Given the description of an element on the screen output the (x, y) to click on. 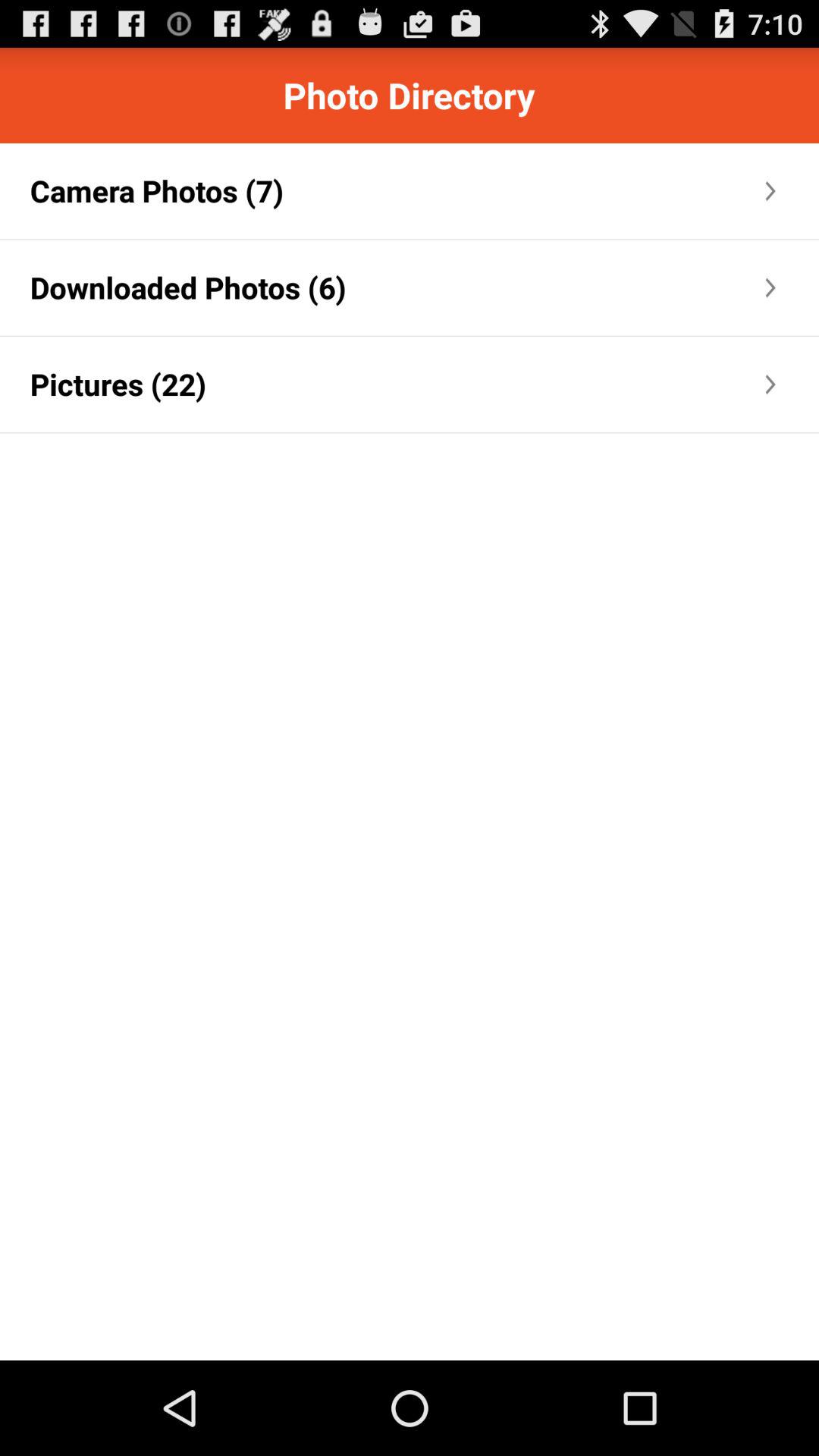
turn off the app next to the downloaded photos (6) app (554, 287)
